Given the description of an element on the screen output the (x, y) to click on. 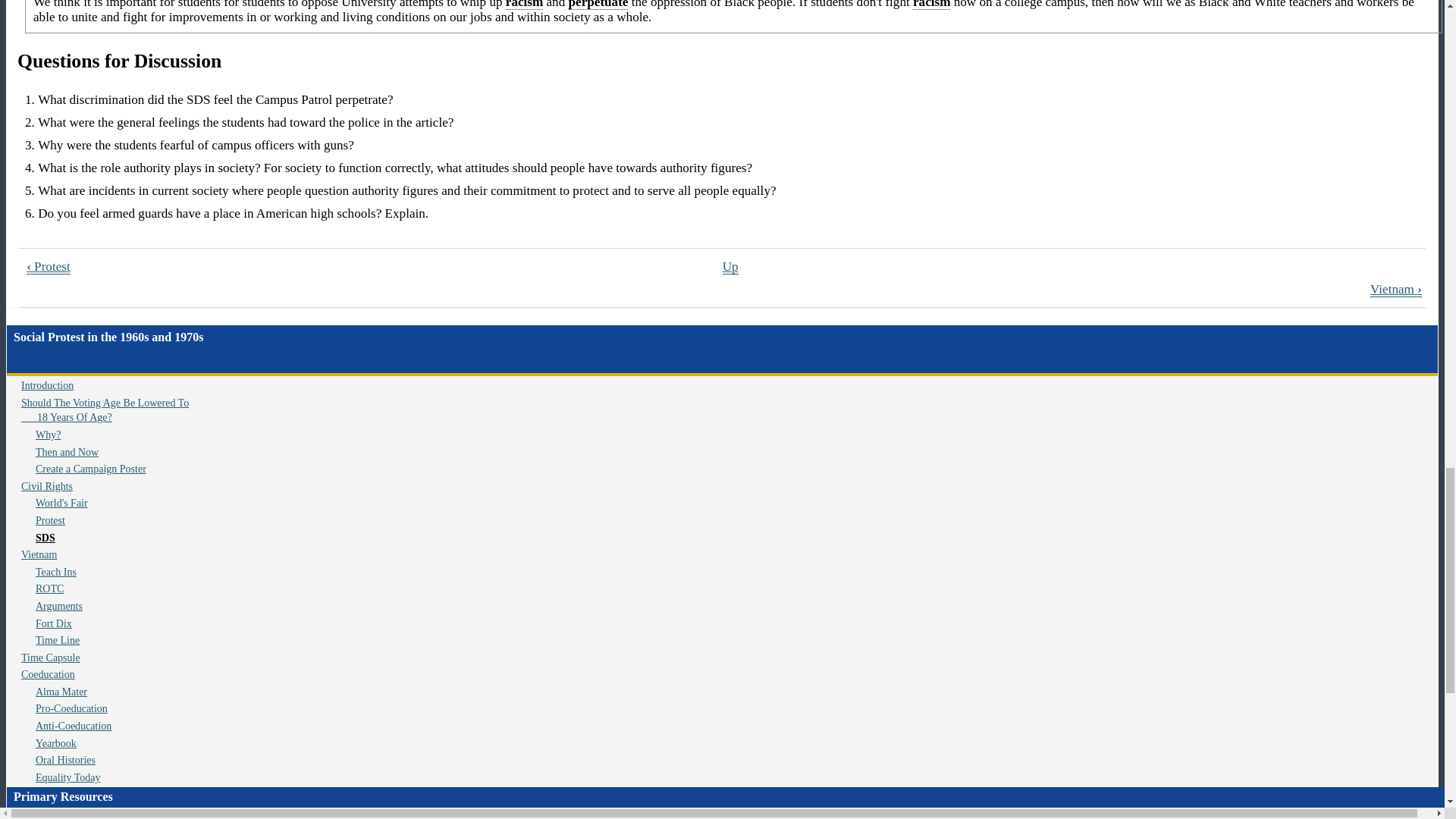
Protest (49, 520)
Time Line (57, 640)
Coeducation (48, 674)
SDS (44, 537)
Time Capsule (50, 657)
Fort Dix (52, 623)
World's Fair (60, 502)
Alma Mater (60, 691)
Teach Ins (55, 572)
Civil Rights (46, 486)
Anti-Coeducation (73, 726)
Arguments (58, 605)
Introduction (47, 385)
Create a Campaign Poster (90, 469)
Why? (47, 434)
